Given the description of an element on the screen output the (x, y) to click on. 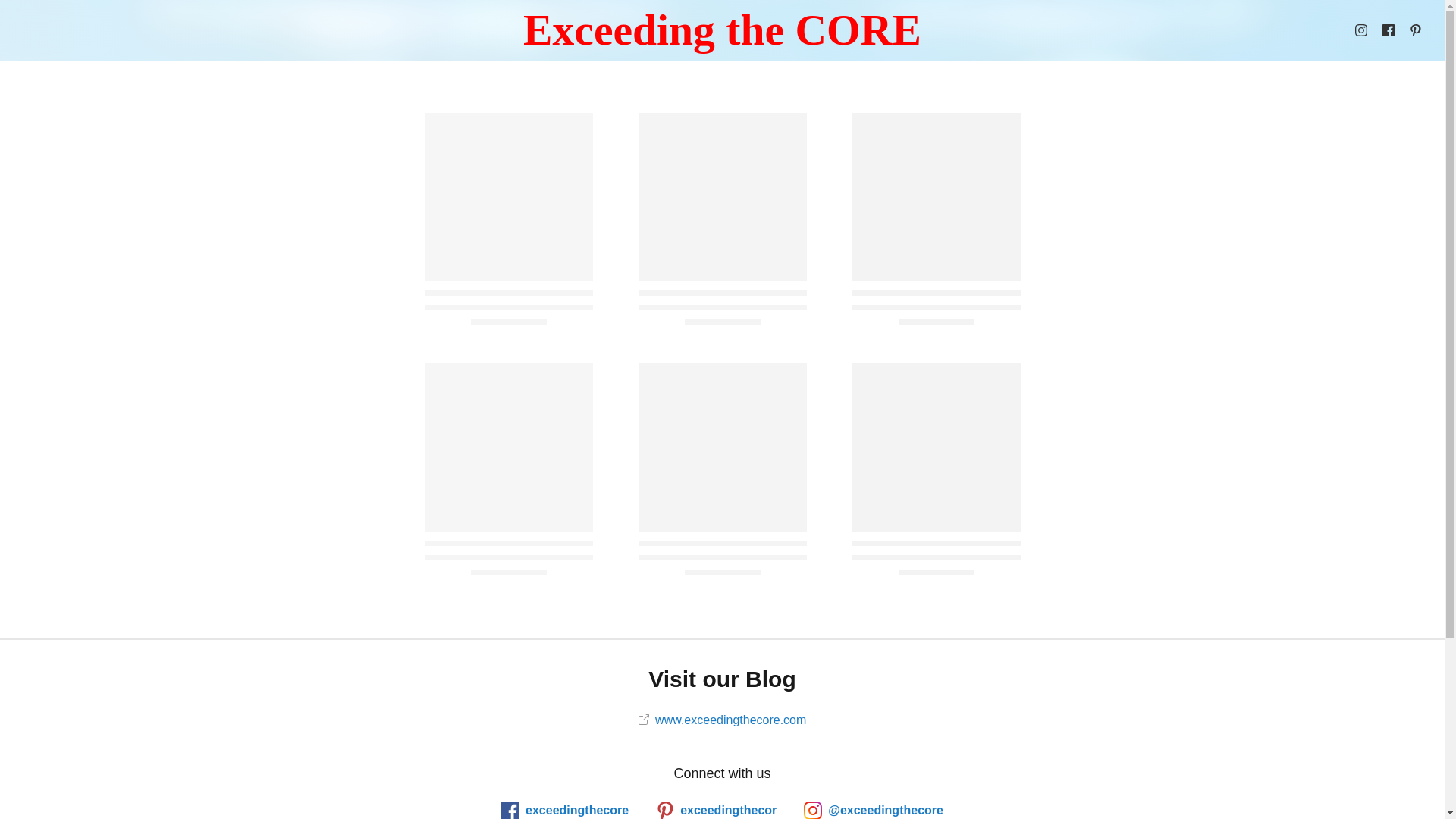
exceedingthecor (716, 810)
exceedingthecore (564, 810)
www.exceedingthecore.com (722, 719)
Exceeding the CORE (721, 30)
